Given the description of an element on the screen output the (x, y) to click on. 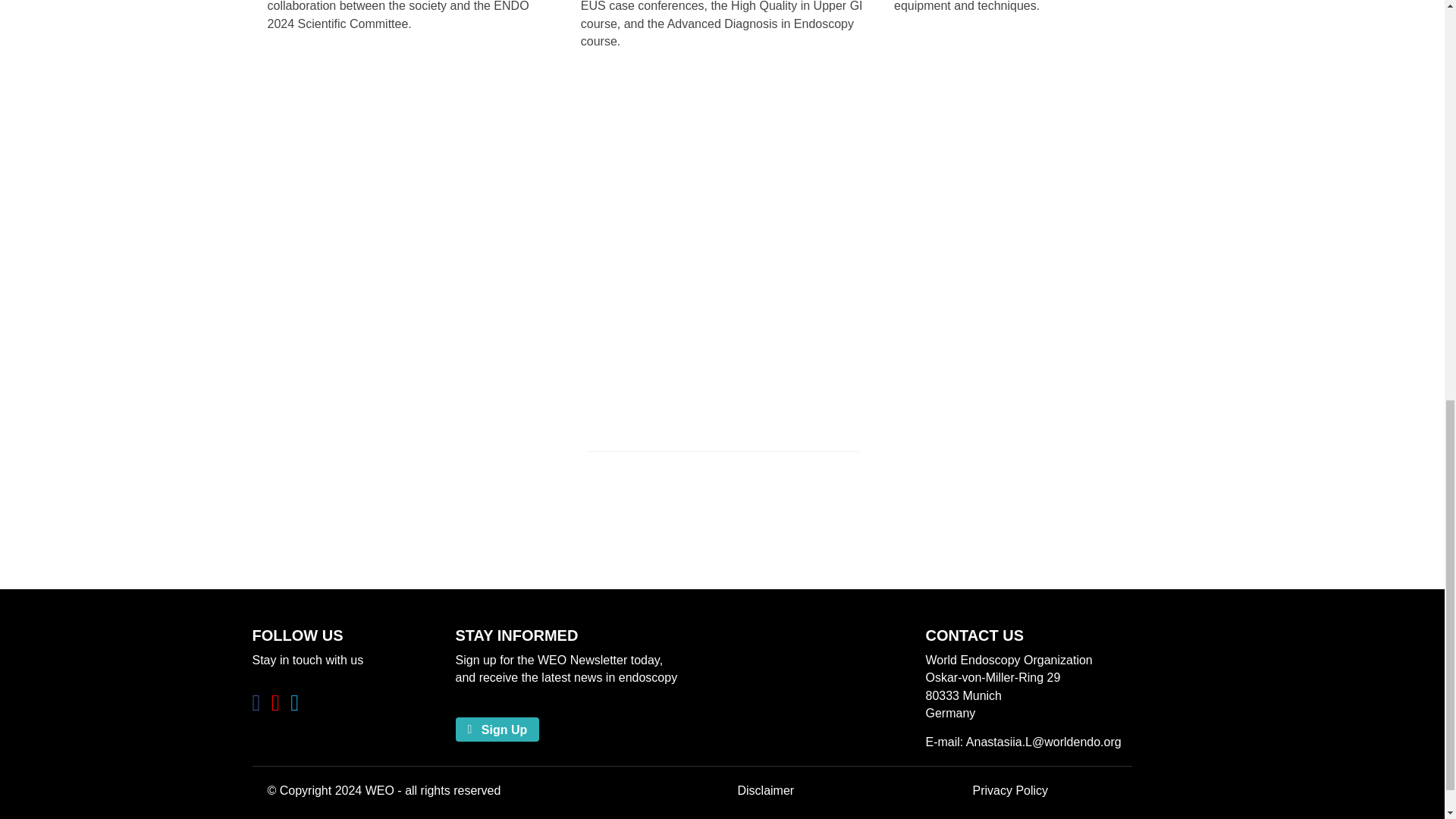
Privacy Policy (1010, 789)
Disclaimer (764, 789)
Sign Up (496, 729)
